Given the description of an element on the screen output the (x, y) to click on. 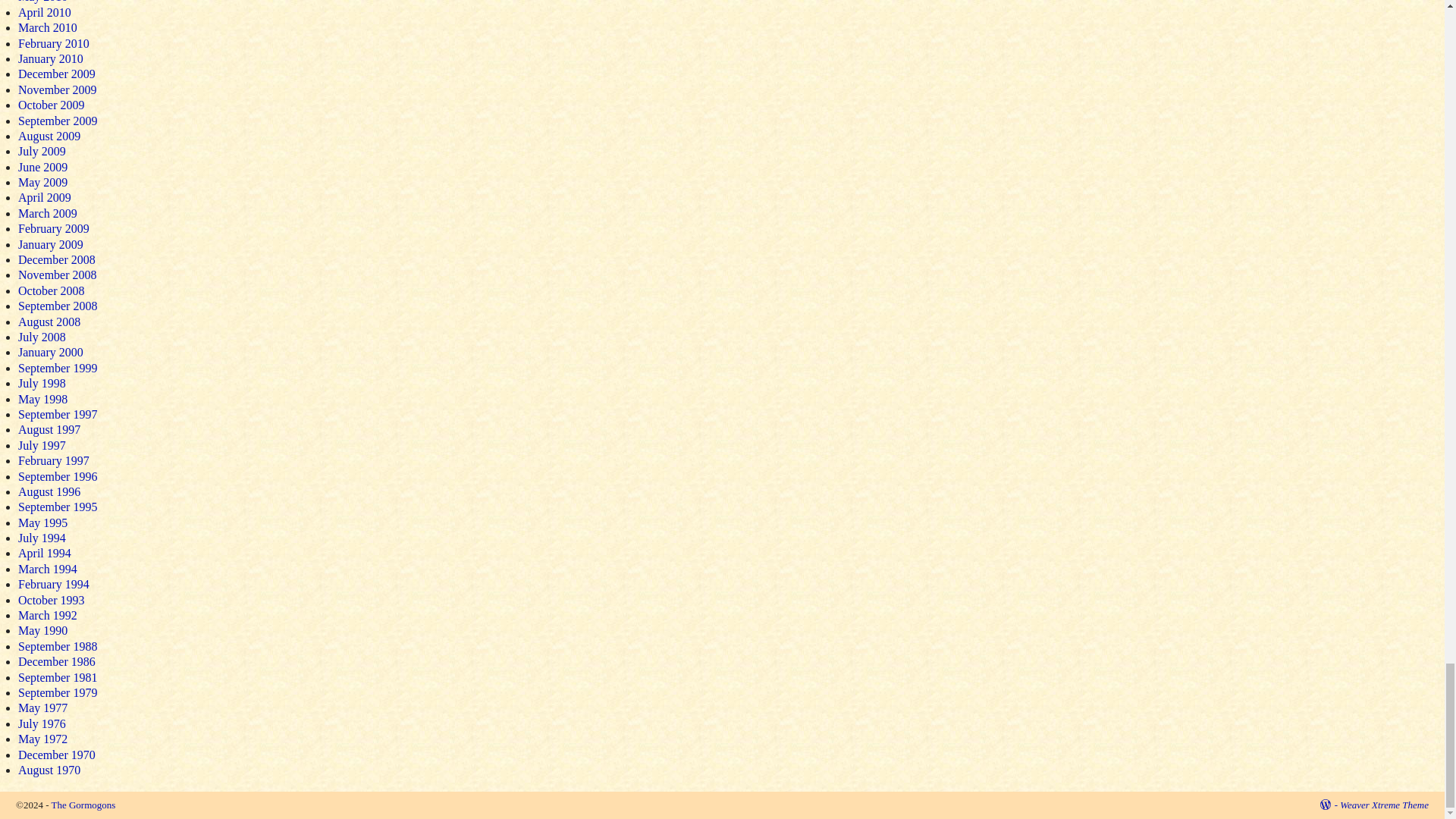
The Gormogons (82, 804)
Weaver Xtreme Theme (1383, 804)
Proudly powered by WordPress (1329, 804)
